Given the description of an element on the screen output the (x, y) to click on. 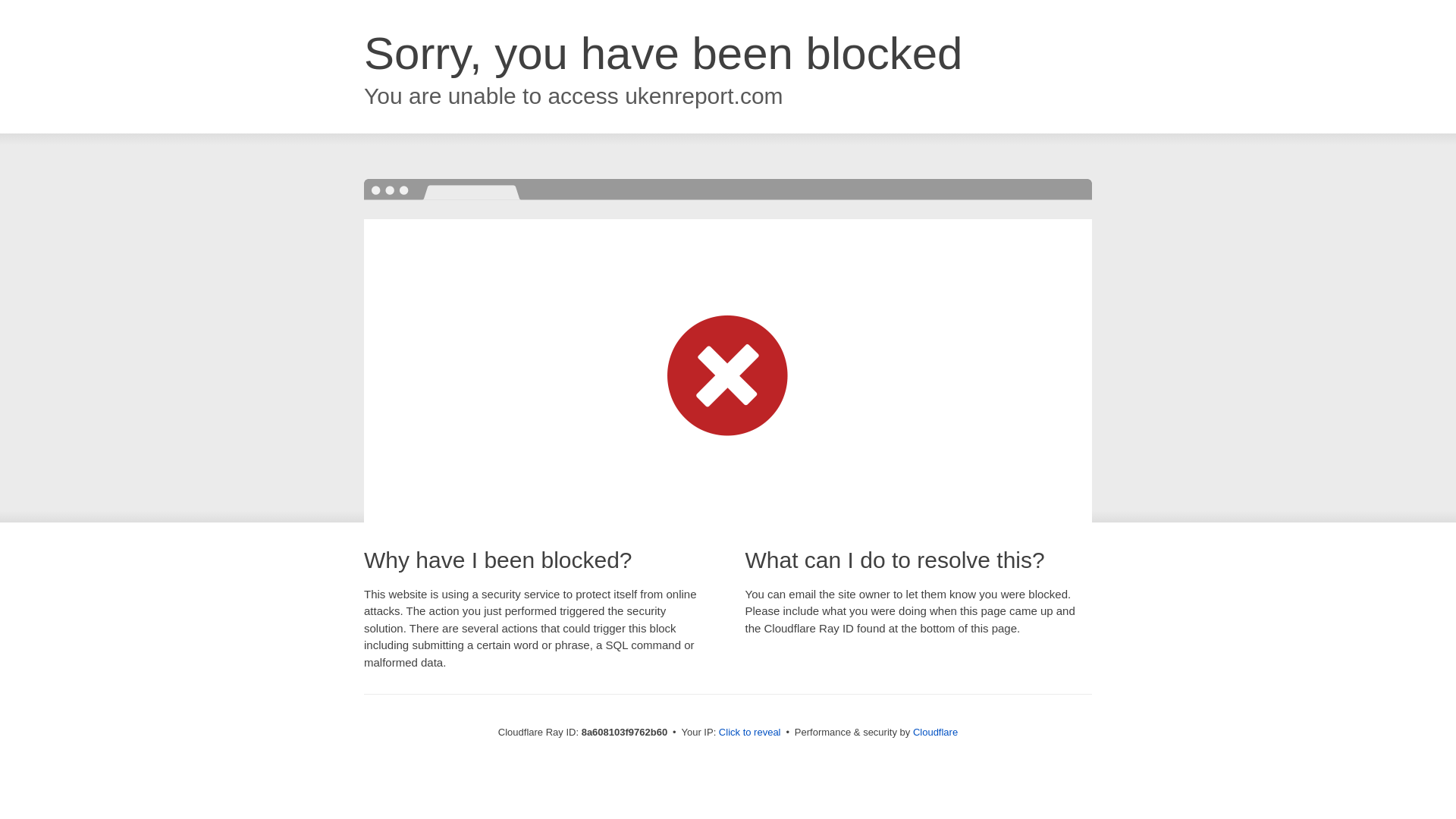
Click to reveal (749, 732)
Cloudflare (935, 731)
